Given the description of an element on the screen output the (x, y) to click on. 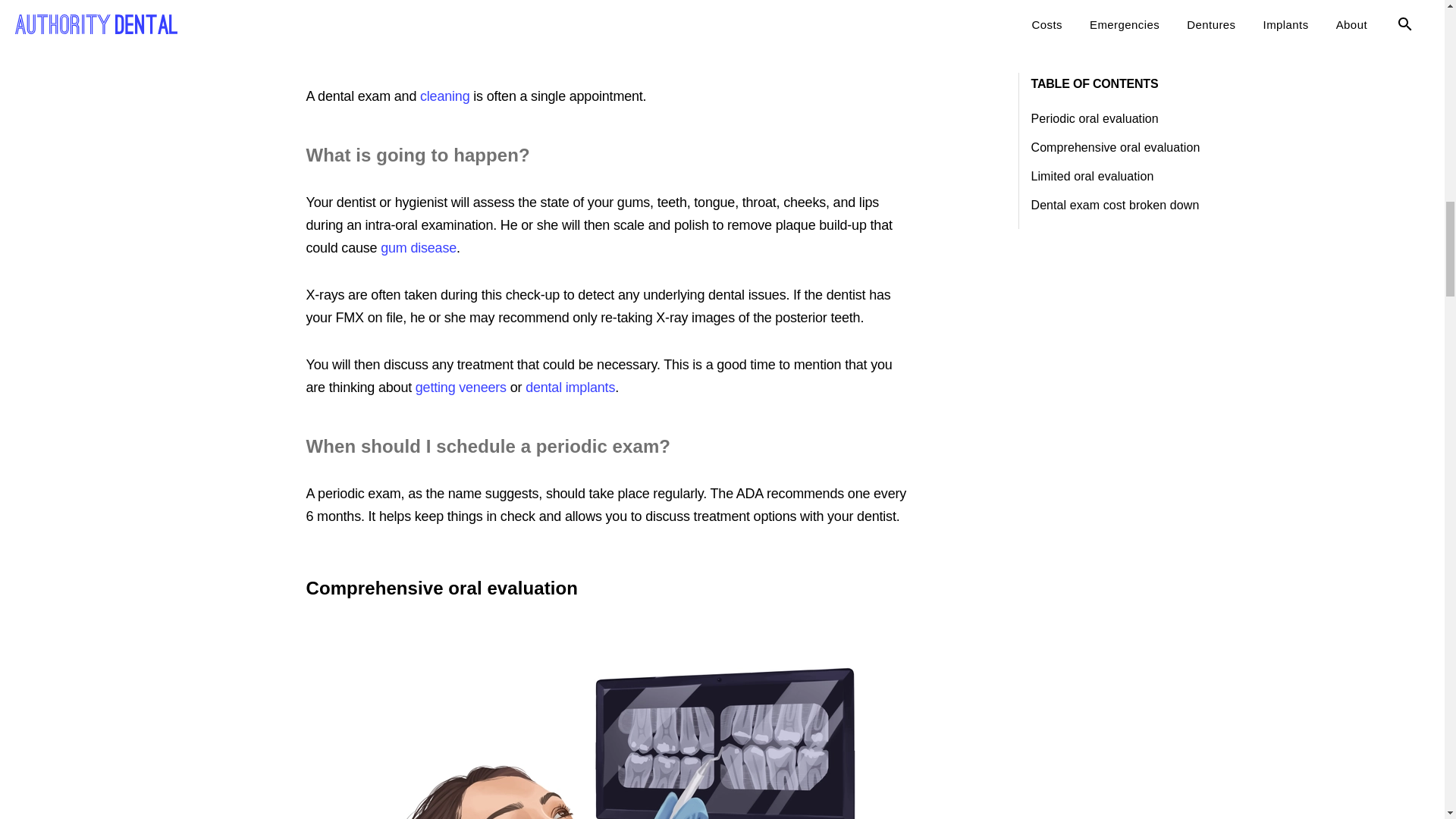
cleaning (444, 96)
dental implants (569, 387)
getting veneers (460, 387)
gum disease (418, 247)
